Given the description of an element on the screen output the (x, y) to click on. 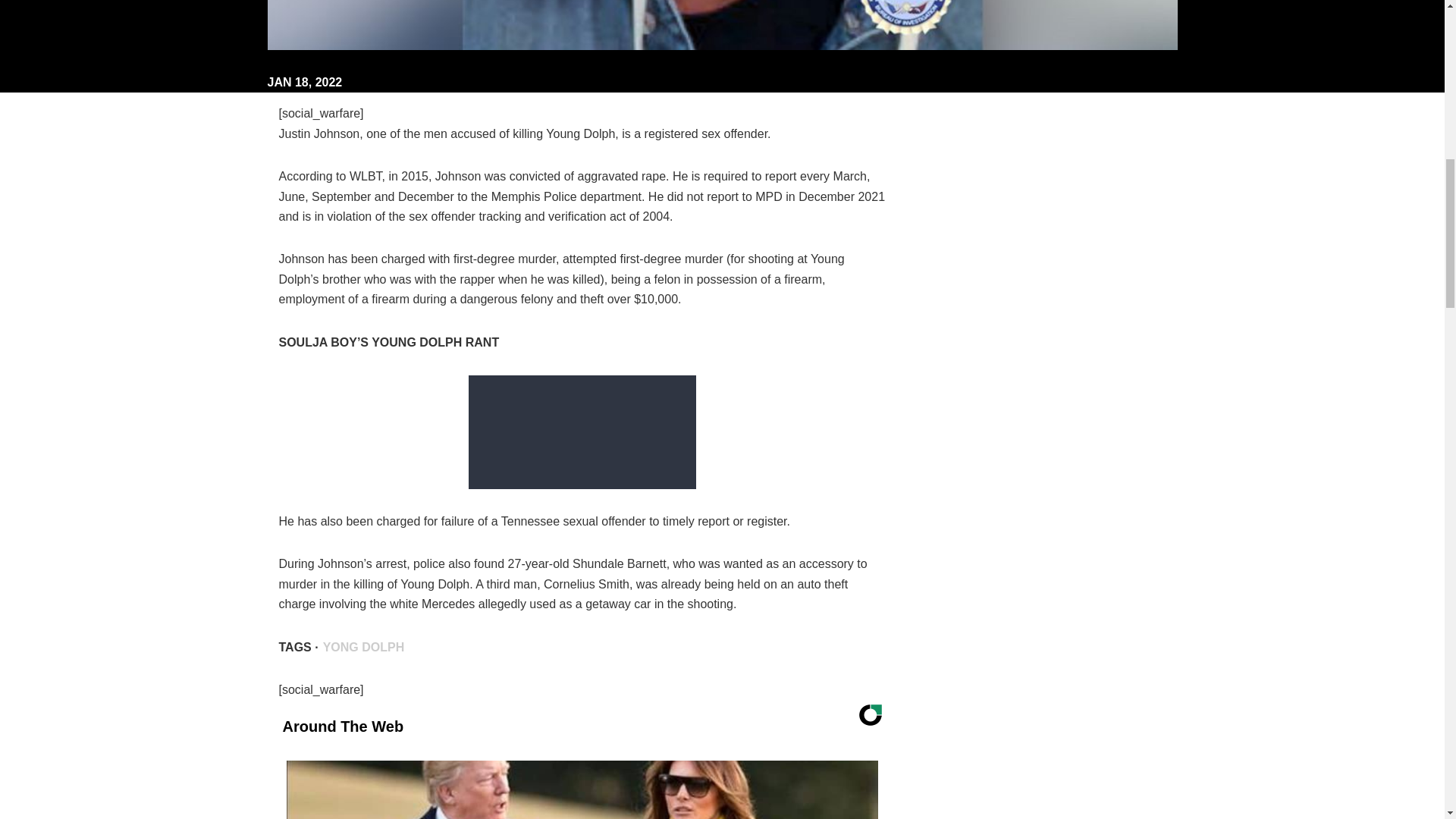
YONG DOLPH (363, 645)
